Given the description of an element on the screen output the (x, y) to click on. 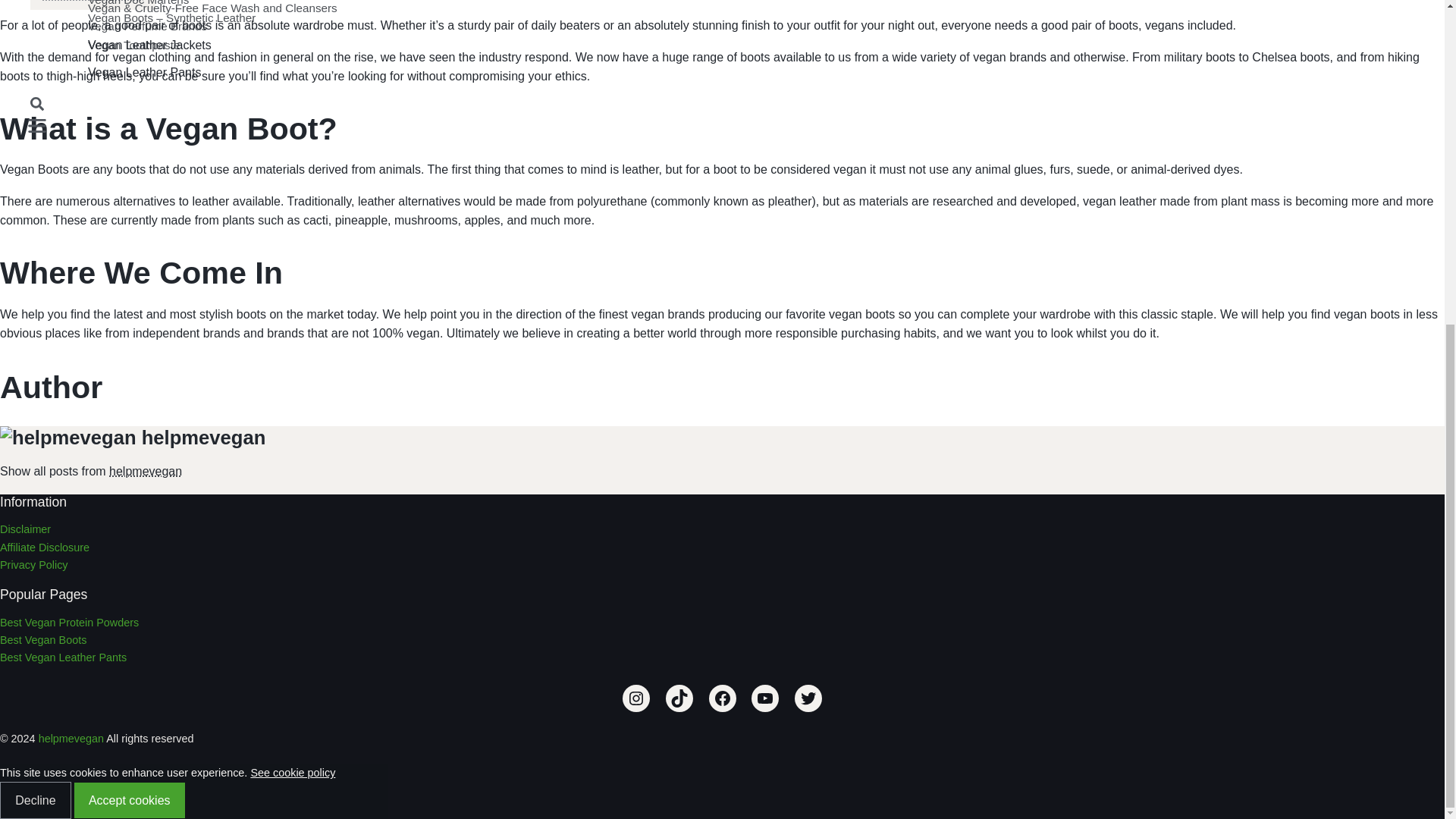
Vegan Leather Pants (671, 72)
Vegan Toothpaste (671, 45)
Vegan Leather Jackets (671, 45)
Vegan Perfume Brands (671, 26)
